Given the description of an element on the screen output the (x, y) to click on. 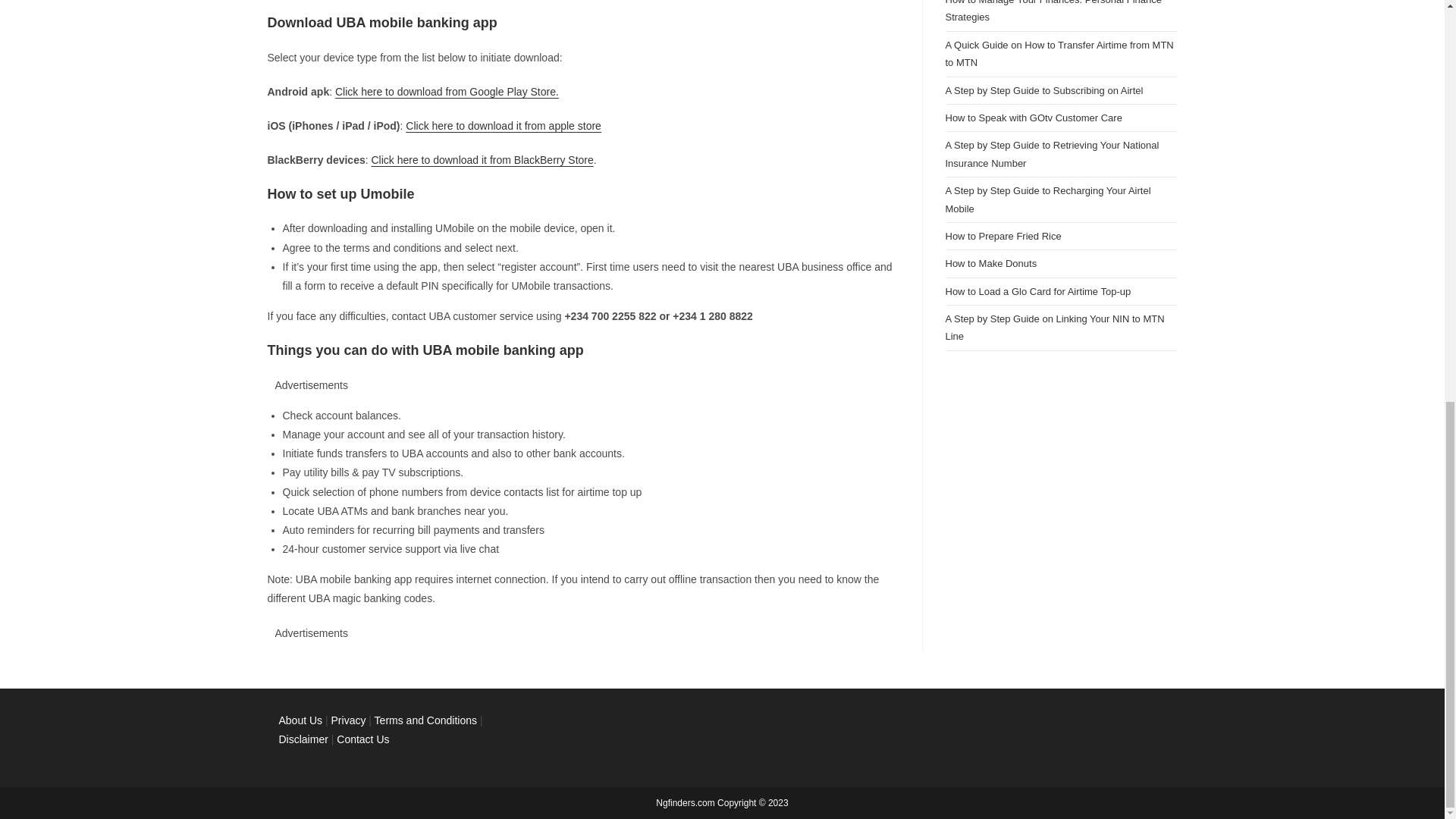
Click here to download from Google Play Store. (446, 91)
How to Load a Glo Card for Airtime Top-up (1037, 291)
A Step by Step Guide to Subscribing on Airtel (1043, 90)
How to Manage Your Finances: Personal Finance Strategies (1052, 11)
About Us (301, 720)
How to Speak with GOtv Customer Care (1032, 117)
A Step by Step Guide to Recharging Your Airtel Mobile (1047, 199)
How to Prepare Fried Rice (1002, 235)
